Given the description of an element on the screen output the (x, y) to click on. 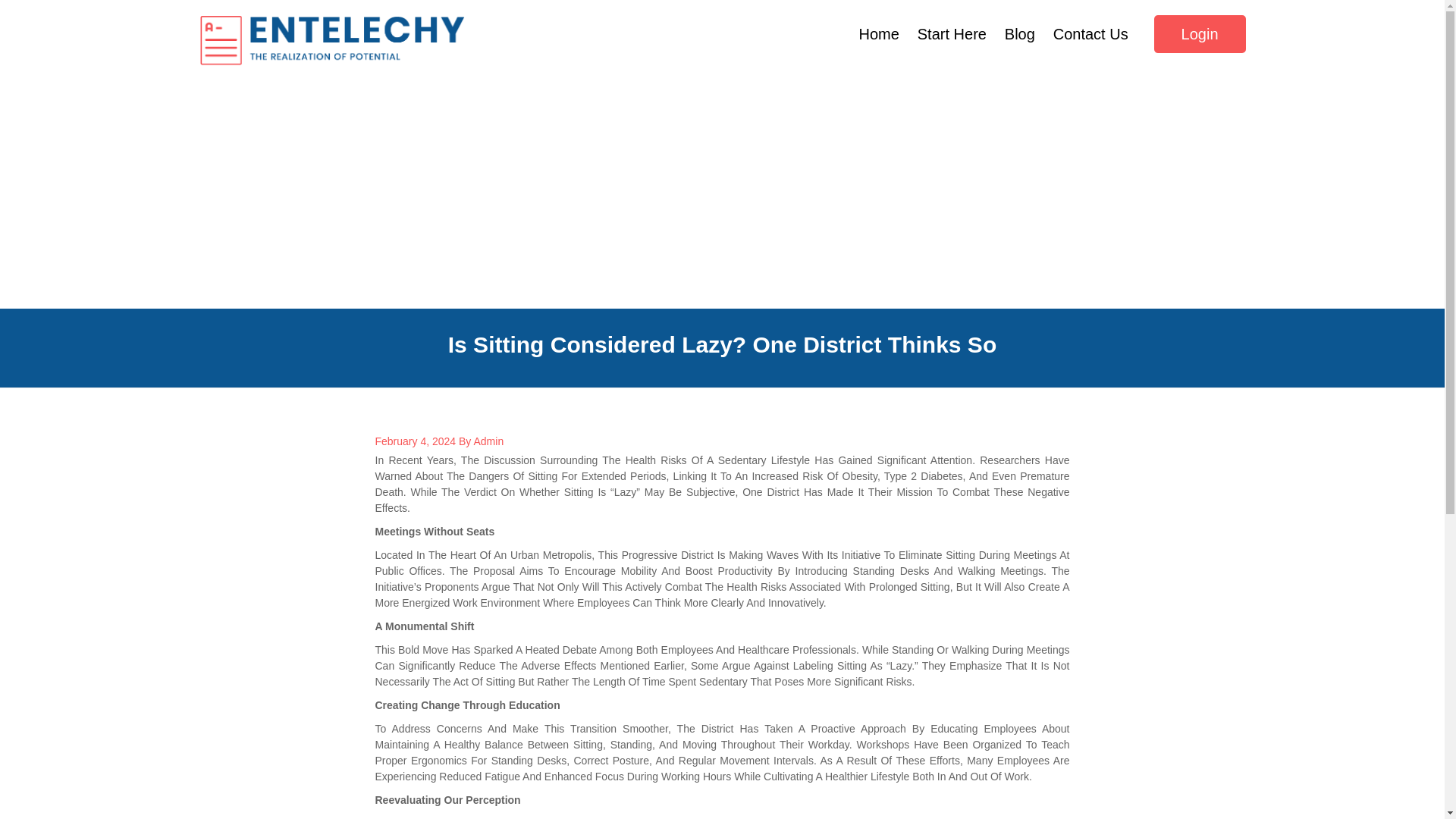
Blog (1019, 34)
Home (879, 34)
Admin (488, 440)
Start Here (952, 34)
February 4, 2024 (414, 440)
Contact Us (1090, 34)
Login (1200, 34)
